Given the description of an element on the screen output the (x, y) to click on. 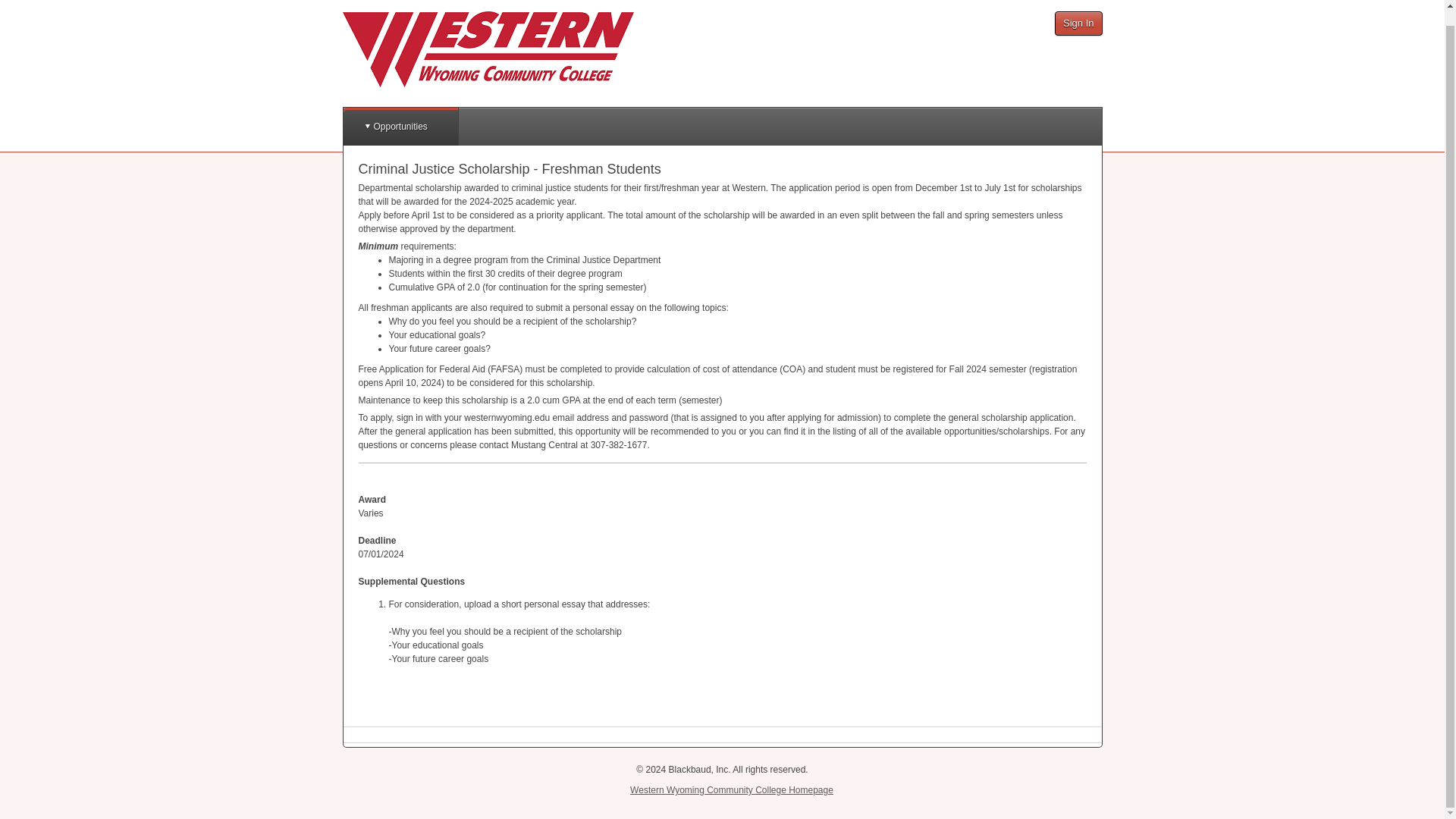
Western Wyoming Community College Homepage (731, 789)
Opportunities (399, 126)
Sign In (1078, 23)
Western Wyoming Community College Scholarships (487, 48)
